Given the description of an element on the screen output the (x, y) to click on. 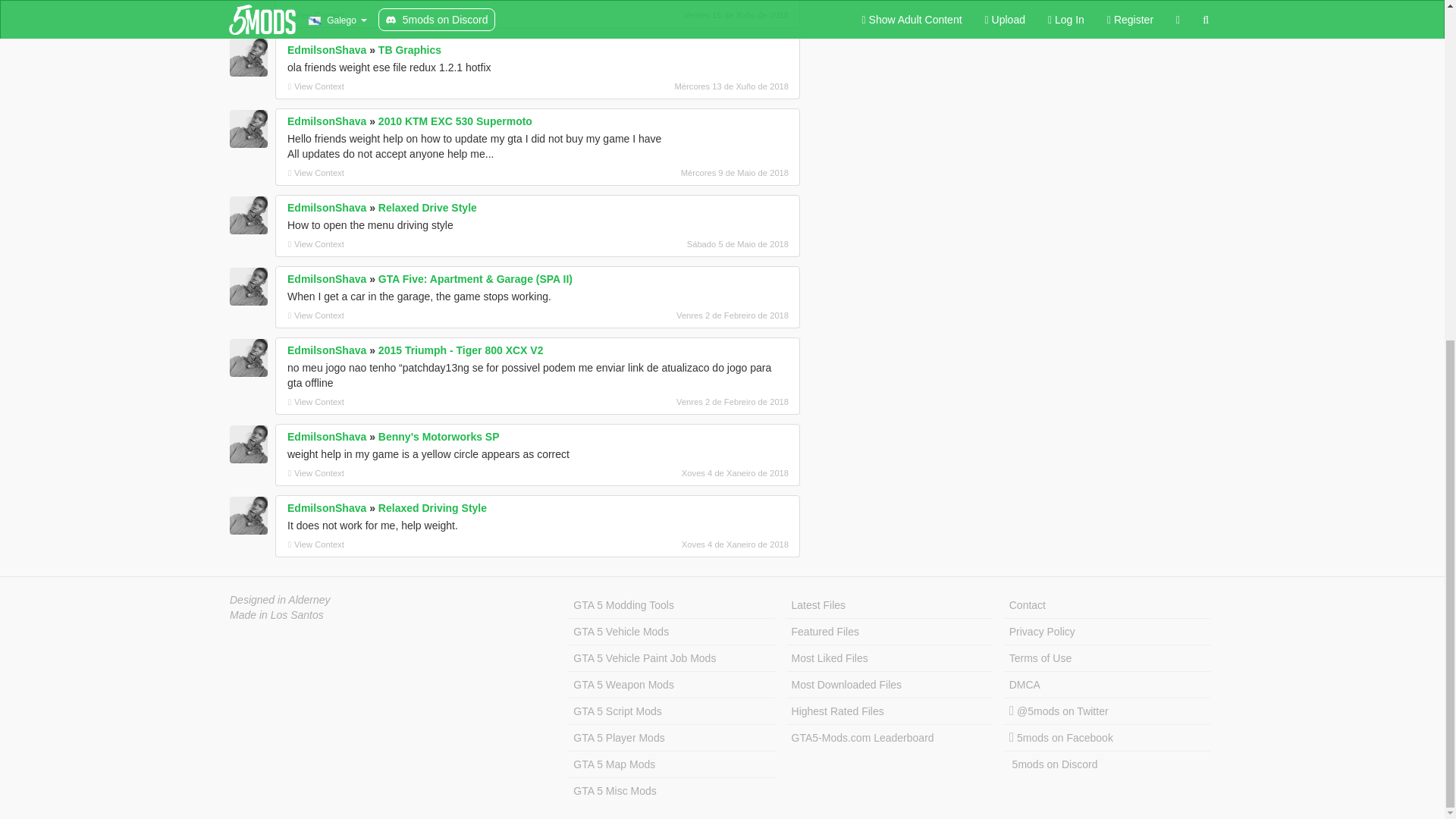
5mods on Discord (1106, 764)
5mods on Facebook (1106, 737)
